Given the description of an element on the screen output the (x, y) to click on. 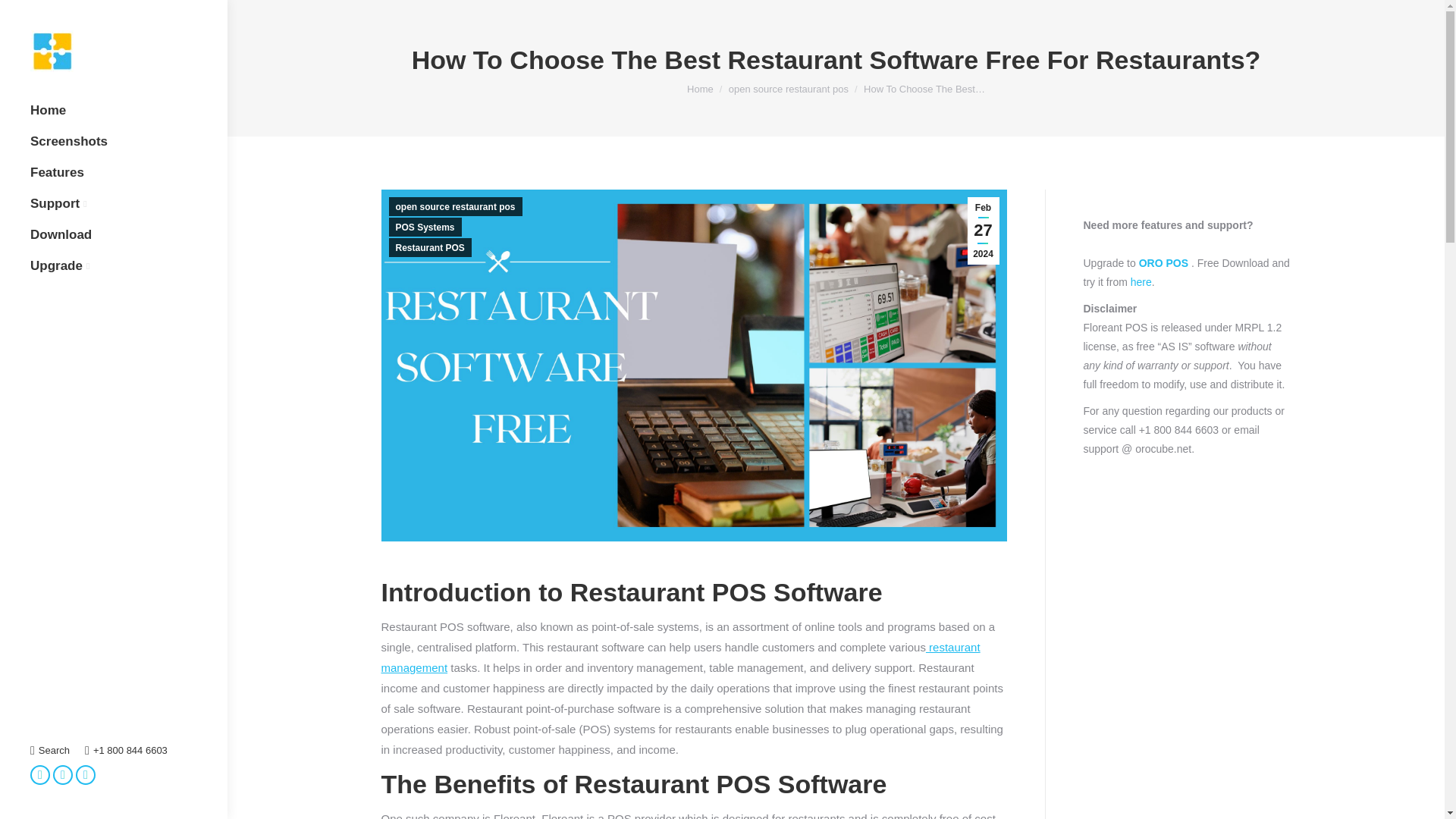
Upgrade (56, 265)
Home (47, 110)
Facebook page opens in new window (39, 774)
Download (60, 234)
Dribbble page opens in new window (85, 774)
Screenshots (68, 141)
Facebook page opens in new window (39, 774)
Dribbble page opens in new window (85, 774)
Go! (24, 15)
